Given the description of an element on the screen output the (x, y) to click on. 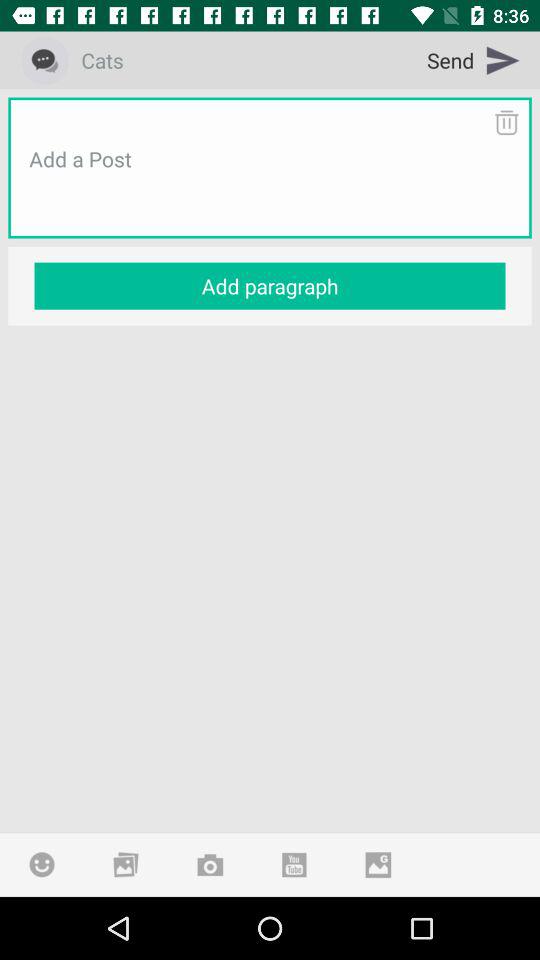
delete (506, 122)
